Given the description of an element on the screen output the (x, y) to click on. 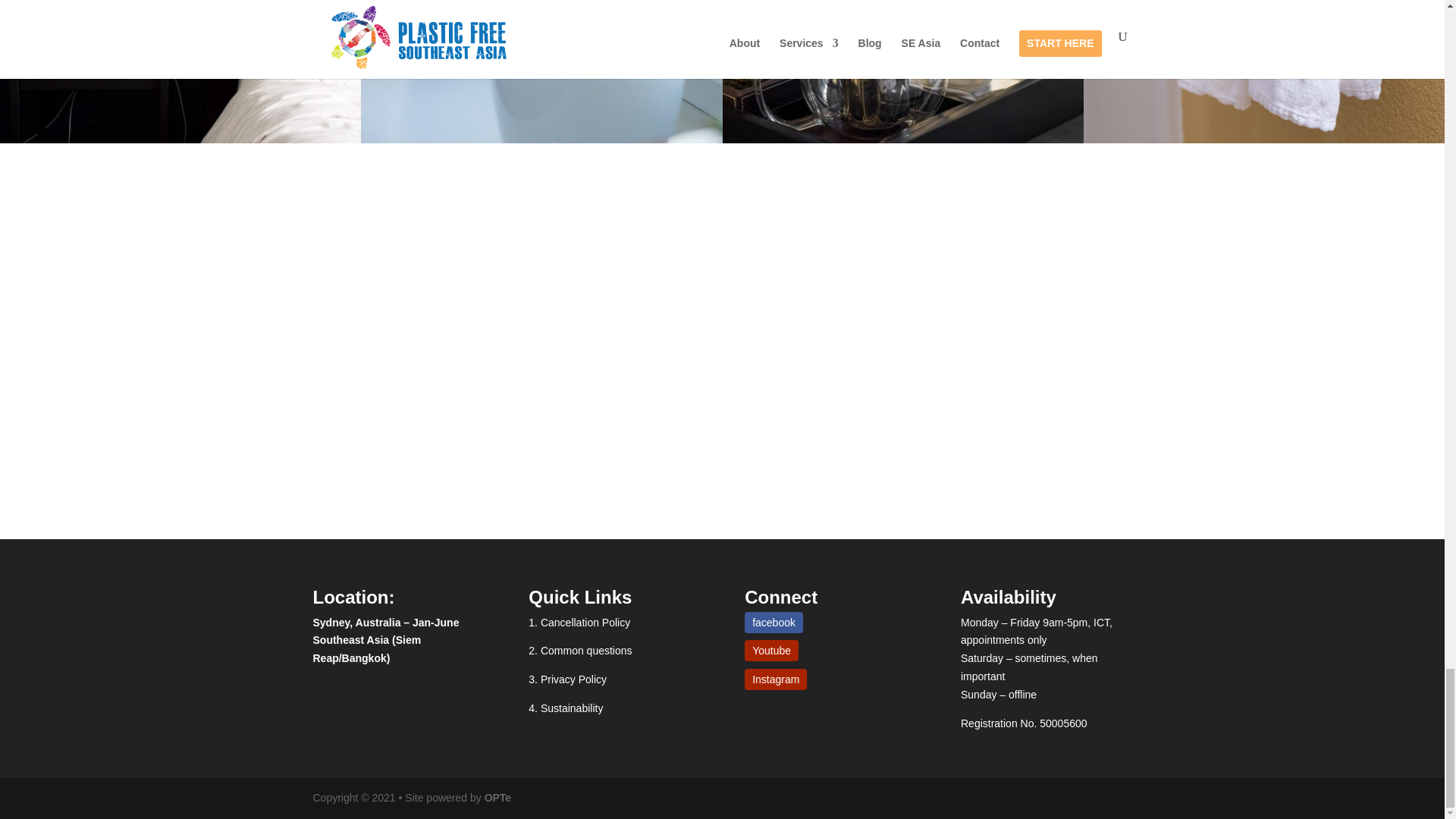
rhema-kallianpur-uocSnWMhnAs-unsplash (180, 71)
katka-pavlickova-tdr2PRYBP94-unsplash (541, 71)
Instagram (775, 679)
facebook (773, 622)
tea-water-jaya-house (902, 71)
Youtube (770, 649)
OPTe (498, 797)
